Given the description of an element on the screen output the (x, y) to click on. 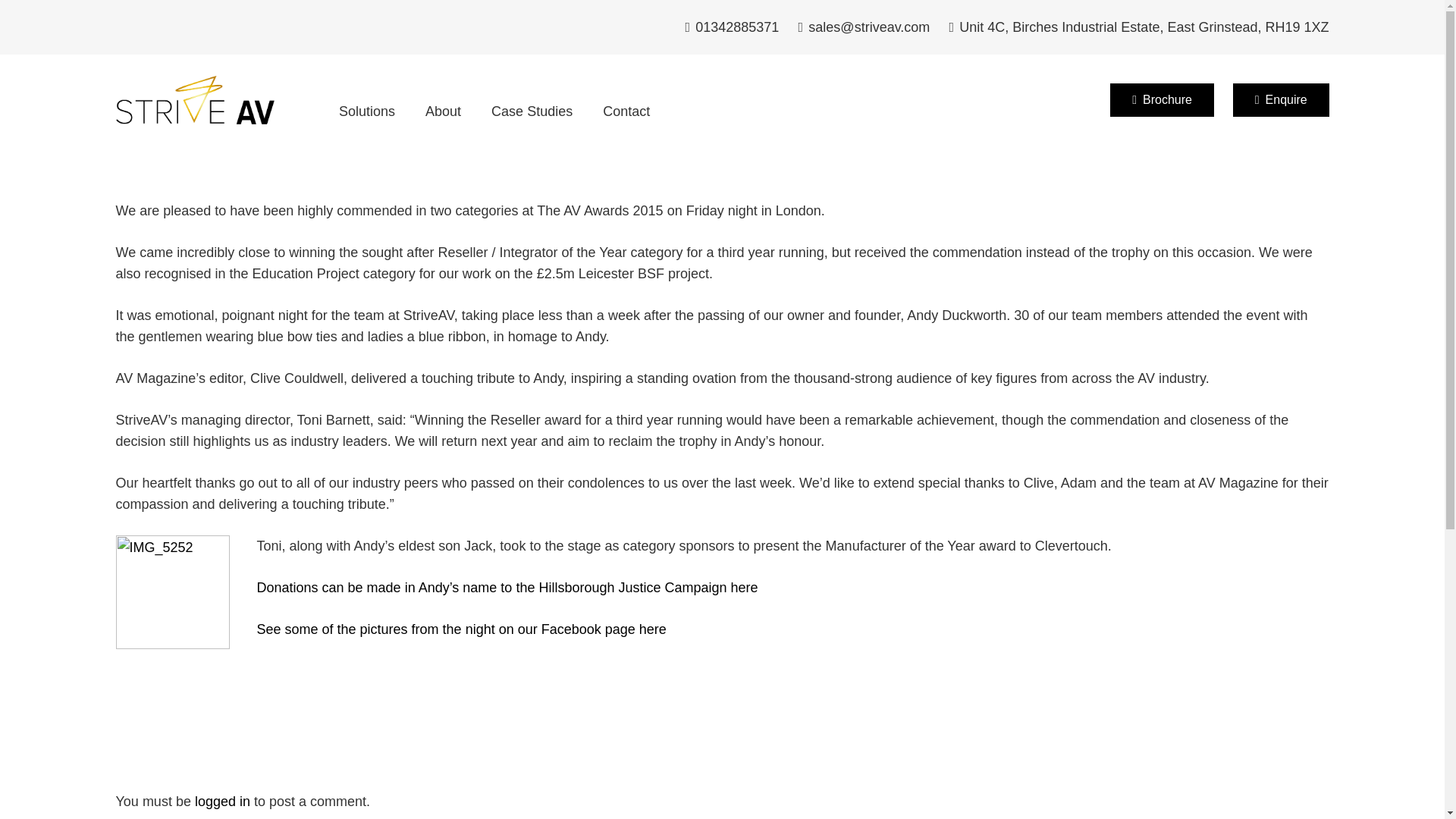
Privacy Policy (1196, 585)
Terms and Conditions (1219, 562)
News (738, 555)
logged in (222, 801)
Modern Slavery Policy (1222, 539)
Brochure (1160, 100)
Meeting Rooms (985, 585)
Classroom AV (980, 539)
About (443, 111)
Equal Opportunities Policy (1234, 516)
Solutions (366, 111)
Case Studies (532, 111)
Huddle Rooms (982, 607)
About (739, 516)
